Given the description of an element on the screen output the (x, y) to click on. 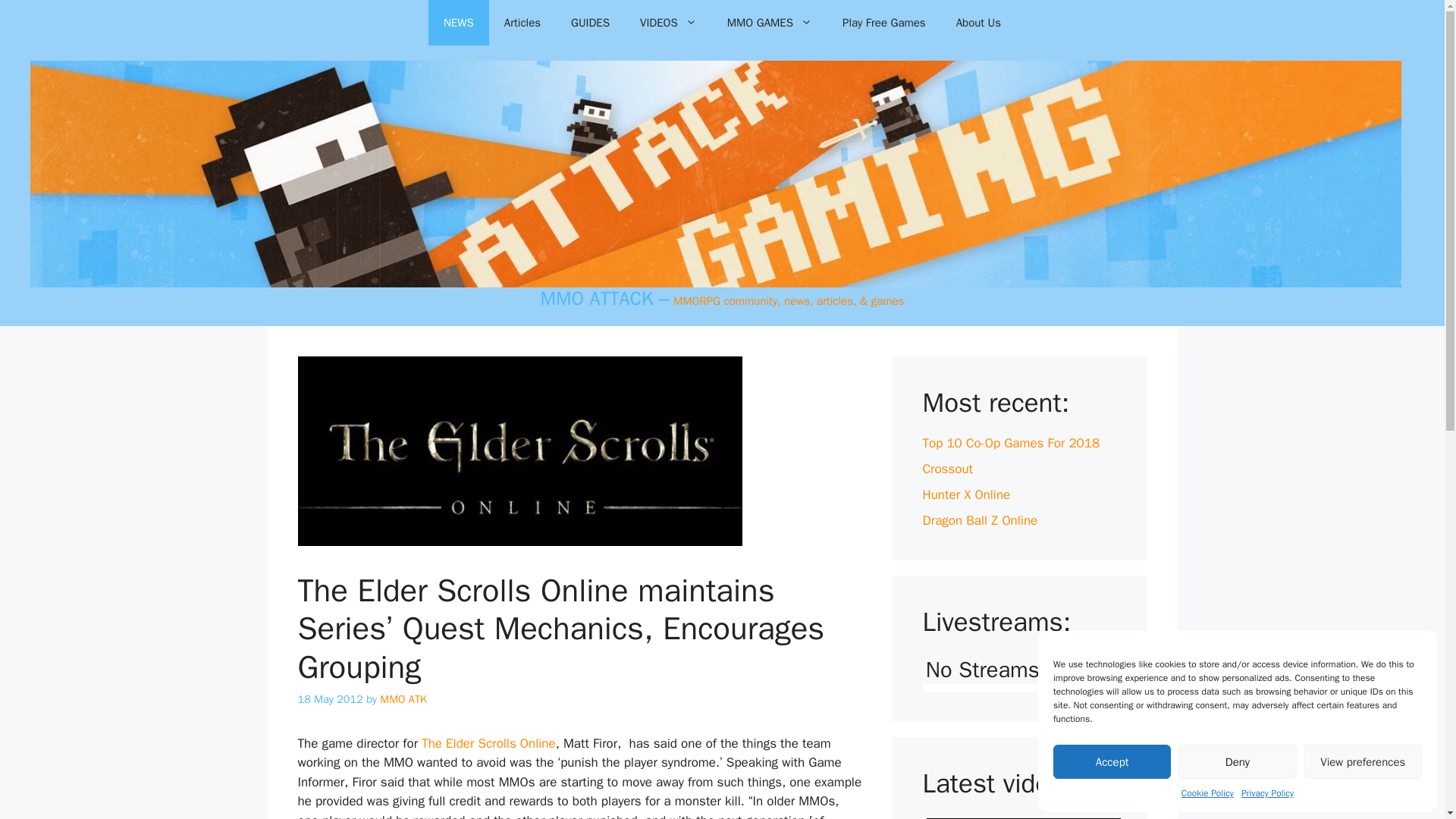
View all posts by MMO ATK (403, 698)
NEWS (458, 22)
MMO GAMES (769, 22)
Play Elder Scrolls Online Now (489, 743)
View preferences (1363, 761)
VIDEOS (667, 22)
Privacy Policy (1267, 793)
Articles (522, 22)
Deny (1236, 761)
Accept (1111, 761)
Cookie Policy (1206, 793)
GUIDES (590, 22)
